Given the description of an element on the screen output the (x, y) to click on. 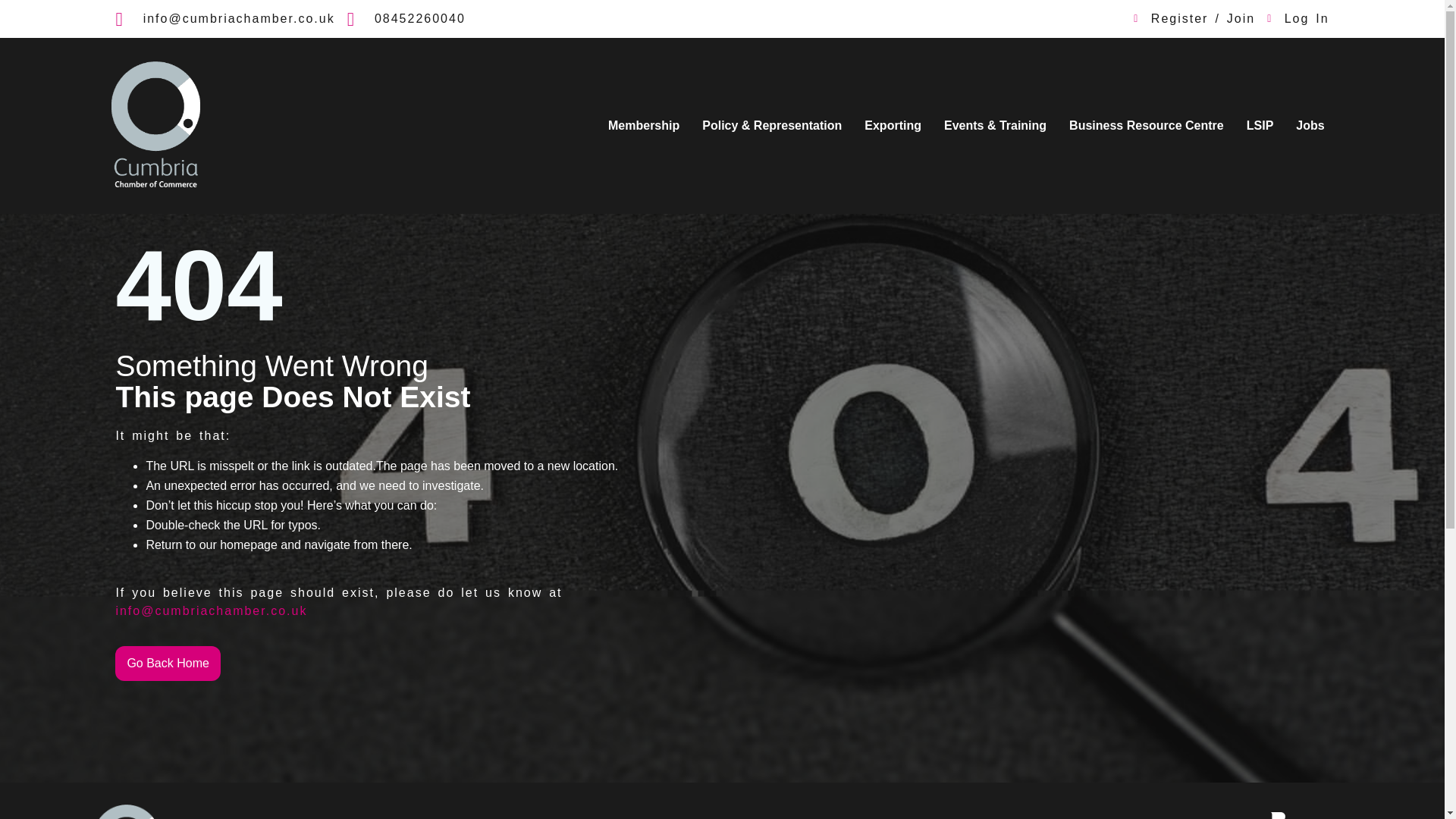
Membership (643, 125)
Business Resource Centre (1146, 125)
Log In (1296, 18)
08452260040 (406, 18)
Jobs (1309, 125)
Exporting (893, 125)
LSIP (1259, 125)
